Given the description of an element on the screen output the (x, y) to click on. 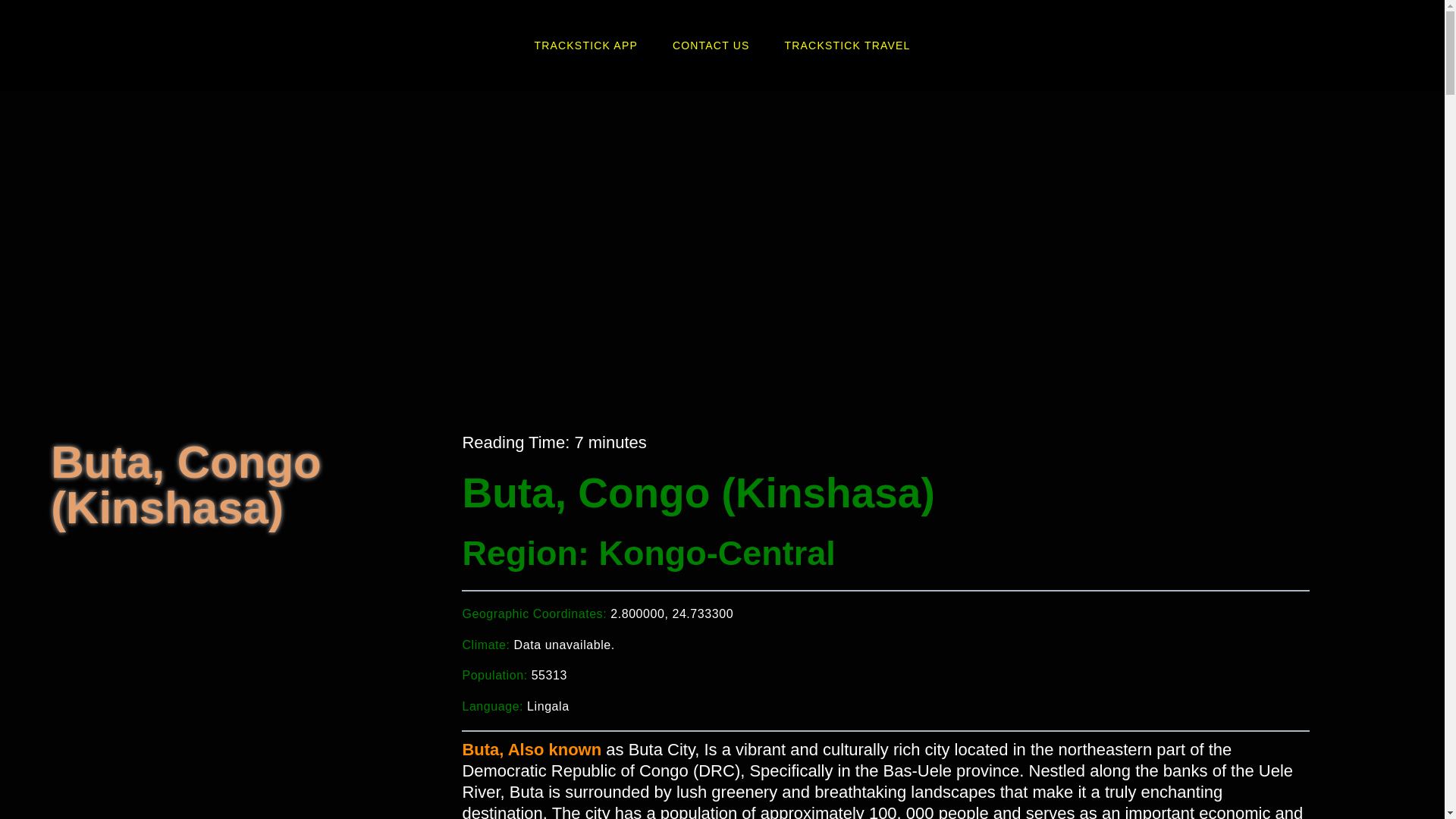
TRACKSTICK APP (584, 45)
CONTACT US (711, 45)
TRACKSTICK TRAVEL (847, 45)
